Given the description of an element on the screen output the (x, y) to click on. 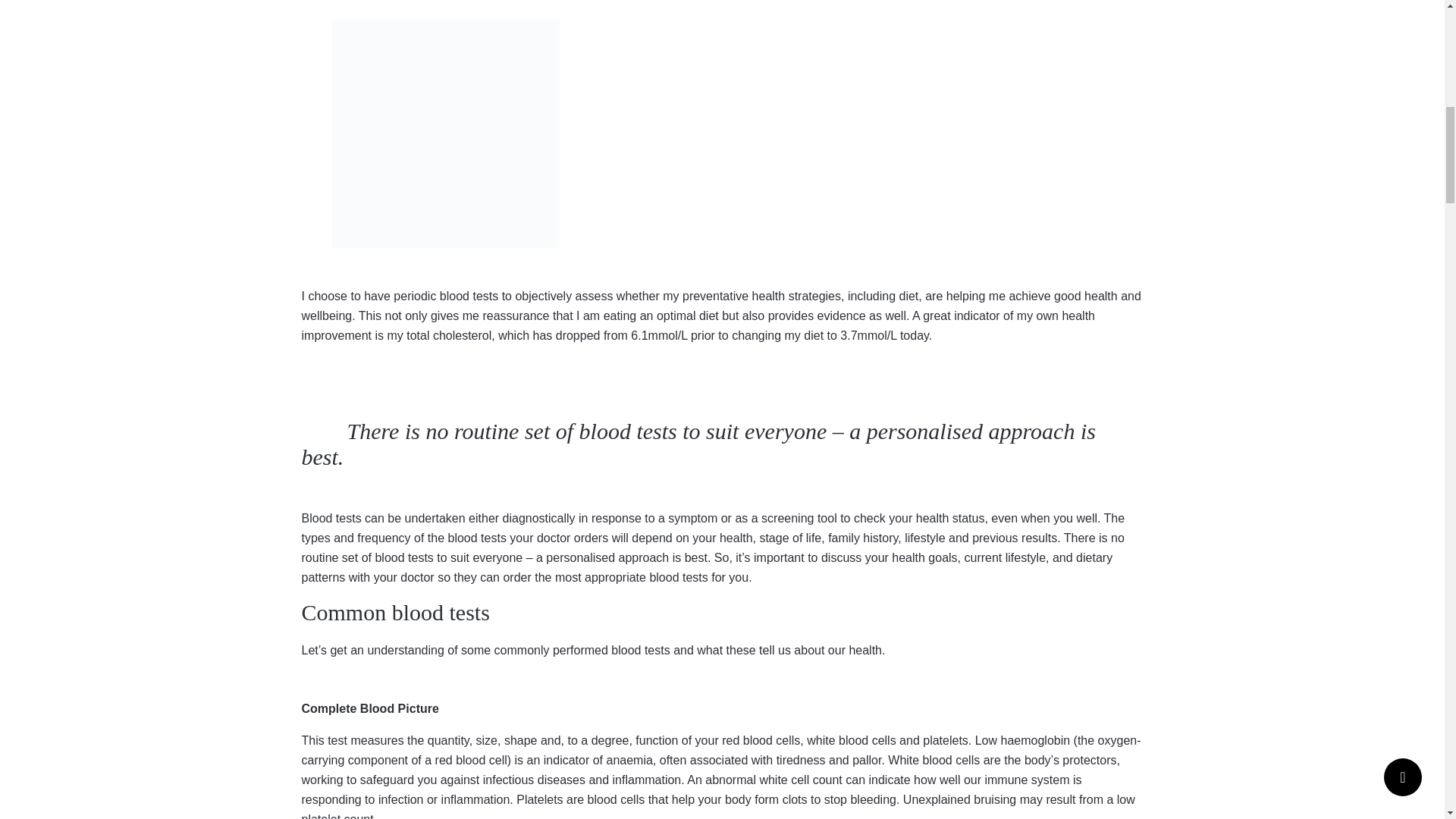
Bloodwork (445, 134)
